Given the description of an element on the screen output the (x, y) to click on. 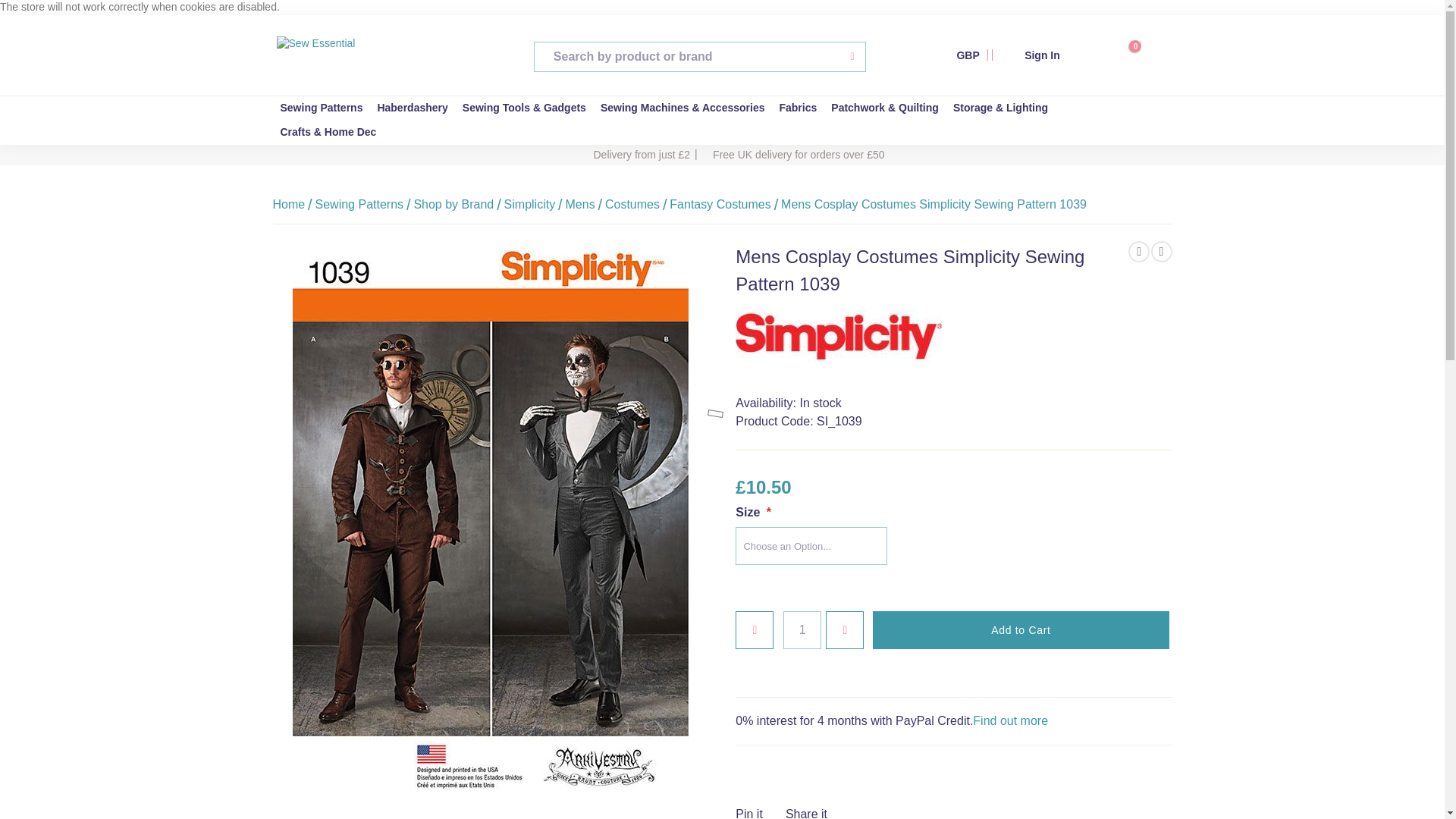
Sewing Patterns (323, 107)
Sewing Patterns (323, 107)
1 (1141, 49)
Sign In (802, 629)
Sew Essential (1054, 55)
